Given the description of an element on the screen output the (x, y) to click on. 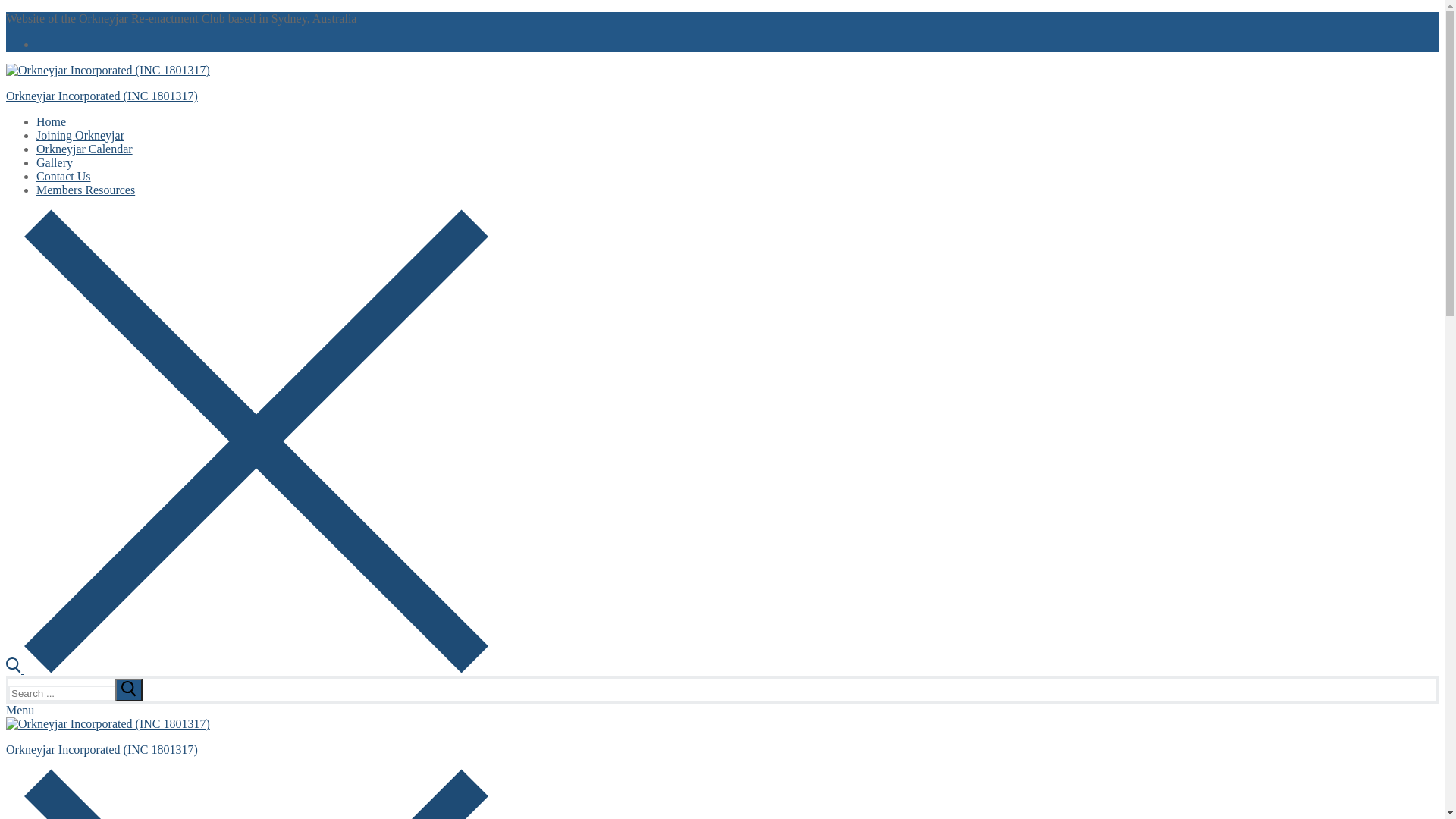
Search for: Element type: hover (75, 693)
Menu Element type: text (20, 709)
Skip to content Element type: text (5, 11)
Joining Orkneyjar Element type: text (80, 134)
Members Resources Element type: text (85, 189)
Gallery Element type: text (54, 162)
Contact Us Element type: text (63, 175)
Orkneyjar Incorporated (INC 1801317) Element type: text (101, 749)
Orkneyjar Incorporated (INC 1801317) Element type: text (101, 95)
Home Element type: text (50, 121)
Orkneyjar Calendar Element type: text (84, 148)
